Given the description of an element on the screen output the (x, y) to click on. 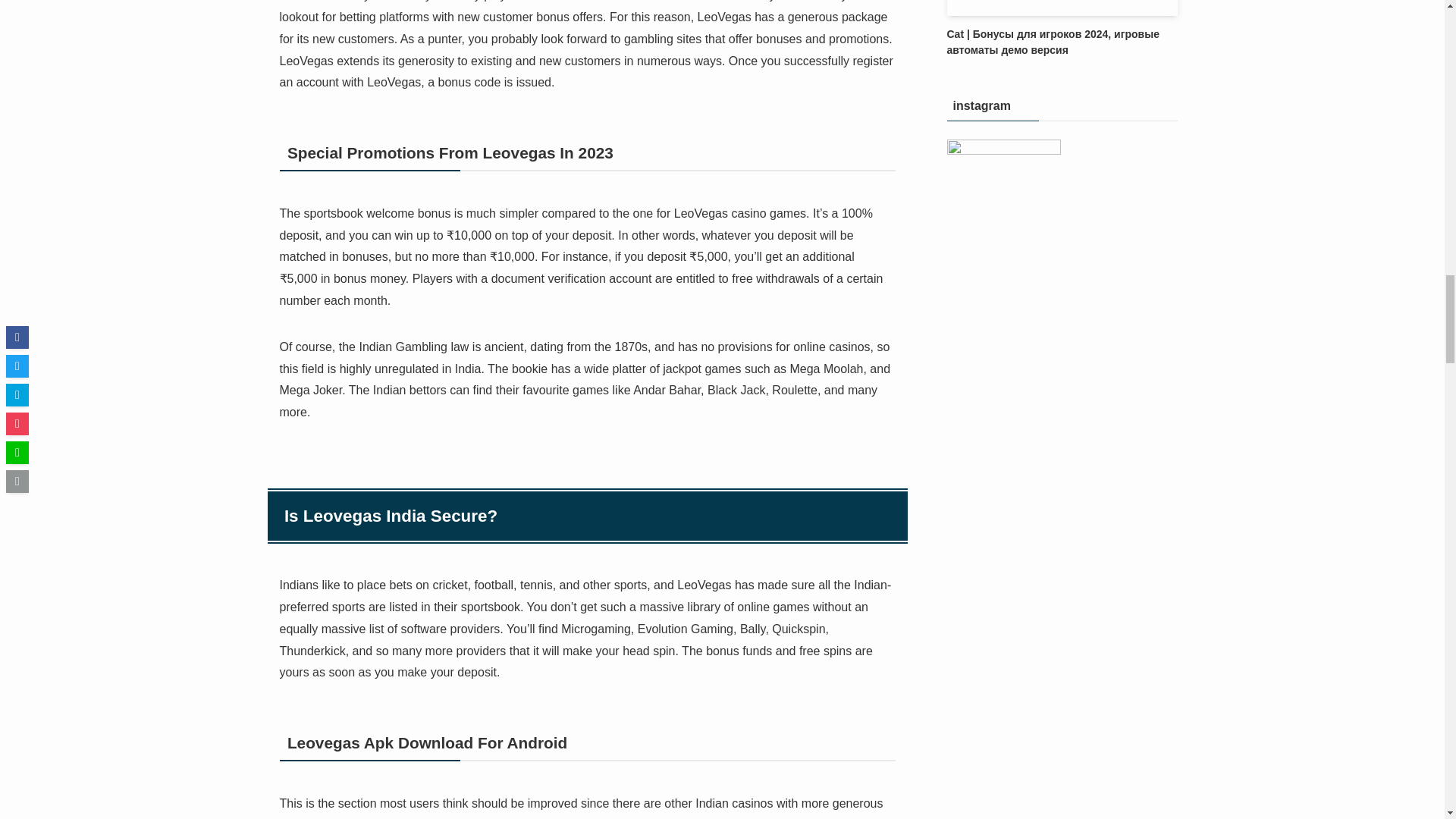
instagram (1002, 196)
